Given the description of an element on the screen output the (x, y) to click on. 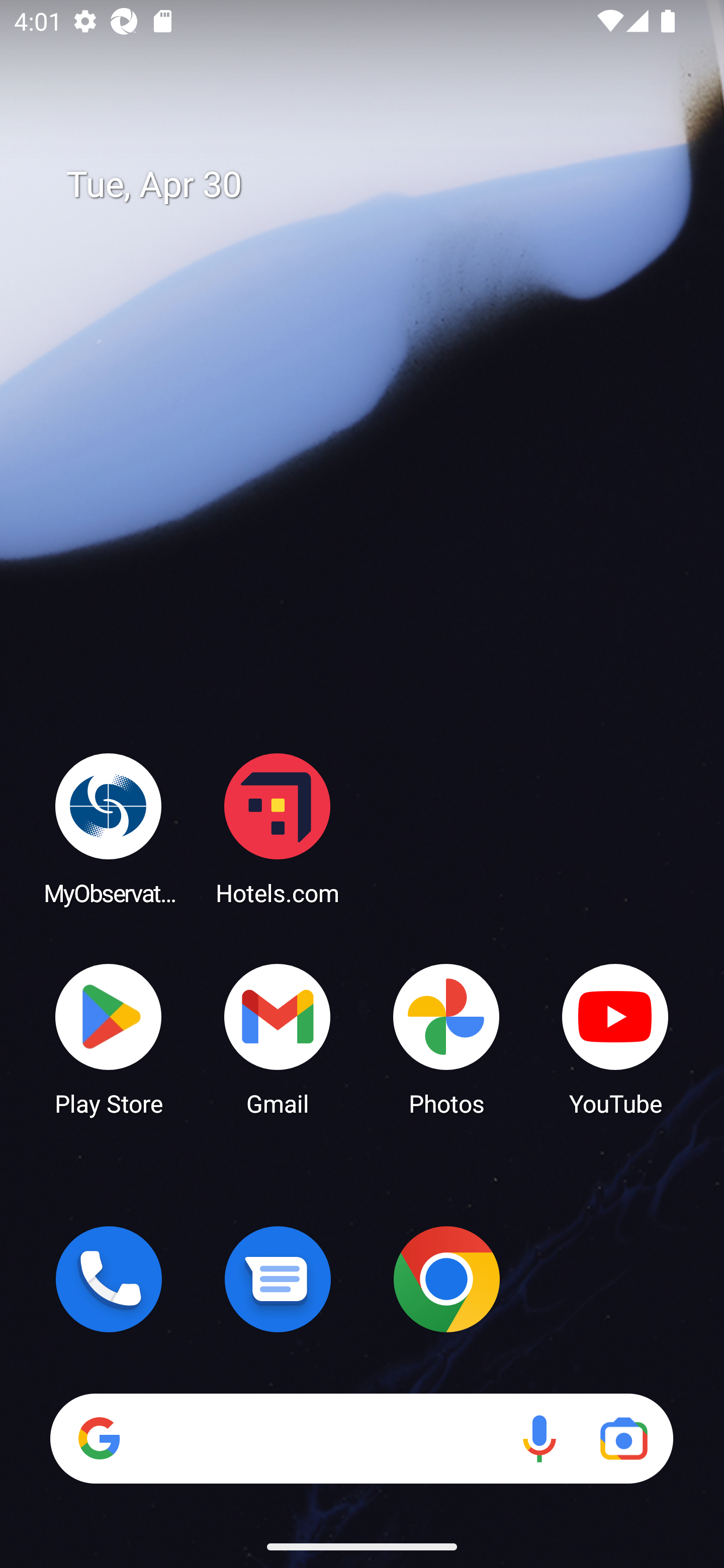
Tue, Apr 30 (375, 184)
MyObservatory (108, 828)
Hotels.com (277, 828)
Play Store (108, 1038)
Gmail (277, 1038)
Photos (445, 1038)
YouTube (615, 1038)
Phone (108, 1279)
Messages (277, 1279)
Chrome (446, 1279)
Voice search (539, 1438)
Google Lens (623, 1438)
